Given the description of an element on the screen output the (x, y) to click on. 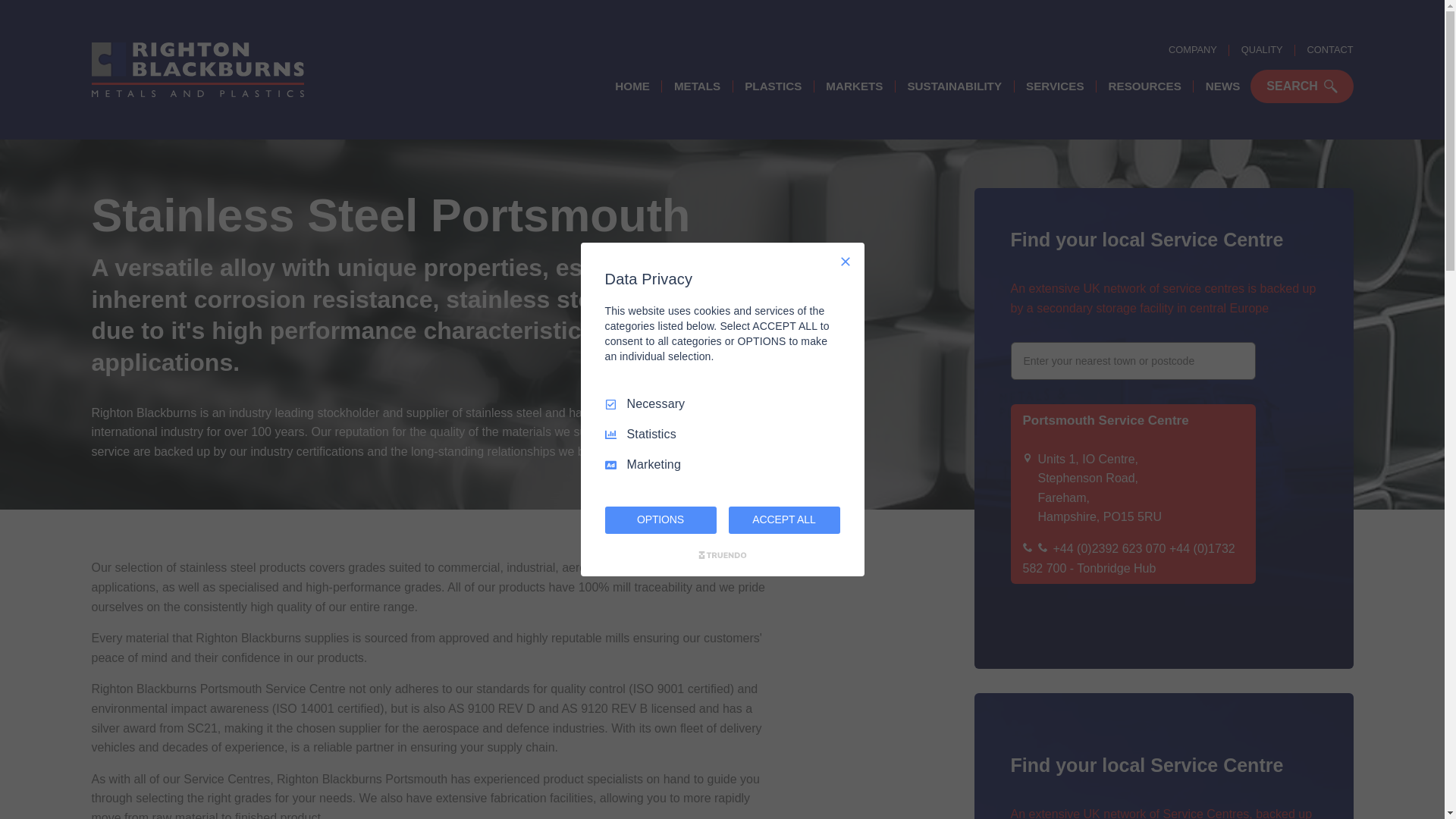
RESOURCES (1144, 86)
PLASTICS (772, 86)
SEARCH (1301, 86)
SUSTAINABILITY (954, 86)
NEWS (1222, 86)
MARKETS (854, 86)
METALS (697, 86)
HOME (632, 86)
SERVICES (1054, 86)
